Given the description of an element on the screen output the (x, y) to click on. 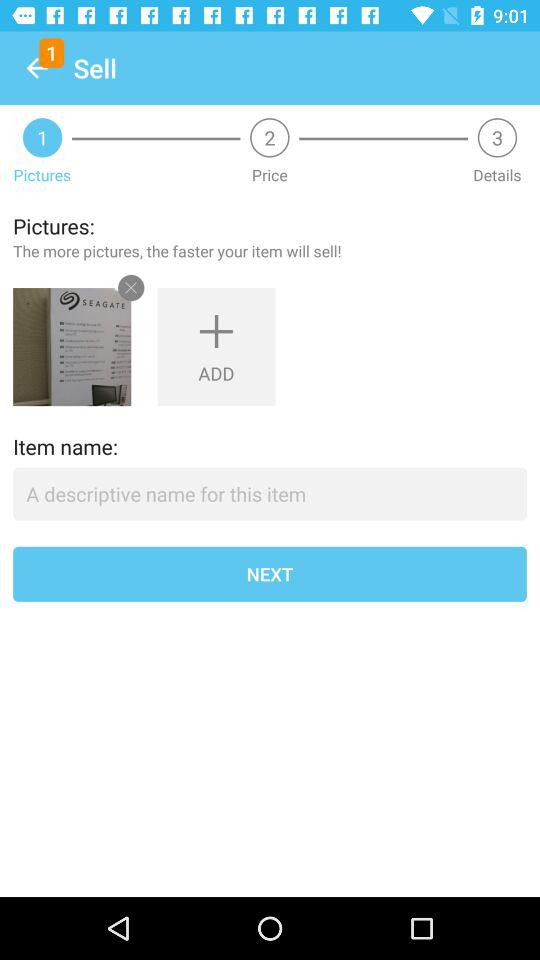
open item above next item (269, 493)
